Given the description of an element on the screen output the (x, y) to click on. 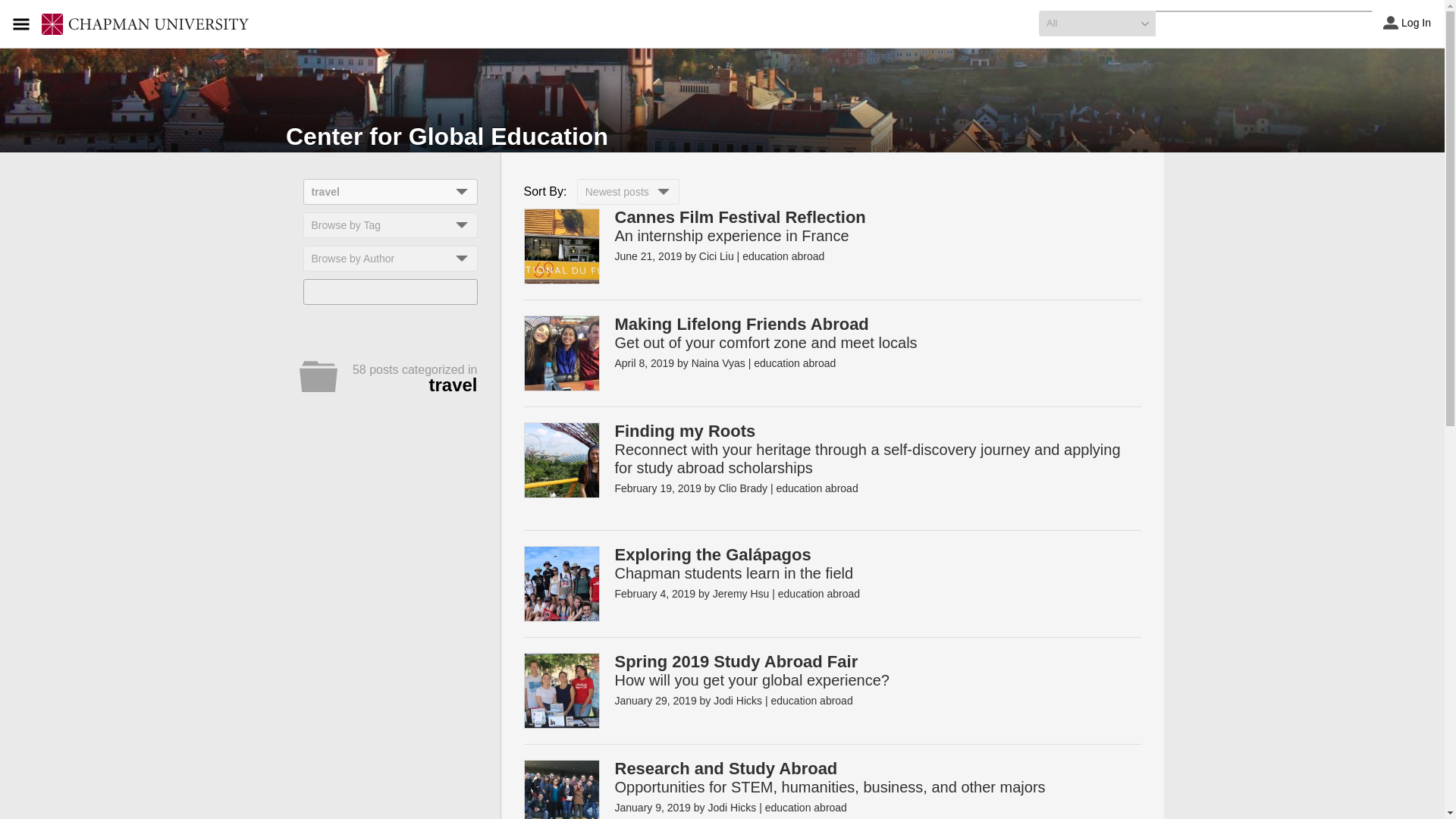
education abroad (818, 593)
Posts by Jodi Hicks (737, 700)
Search (21, 7)
education abroad (816, 488)
Center for Global Education (446, 135)
education abroad (783, 256)
Posts by Jodi Hicks (731, 807)
